Given the description of an element on the screen output the (x, y) to click on. 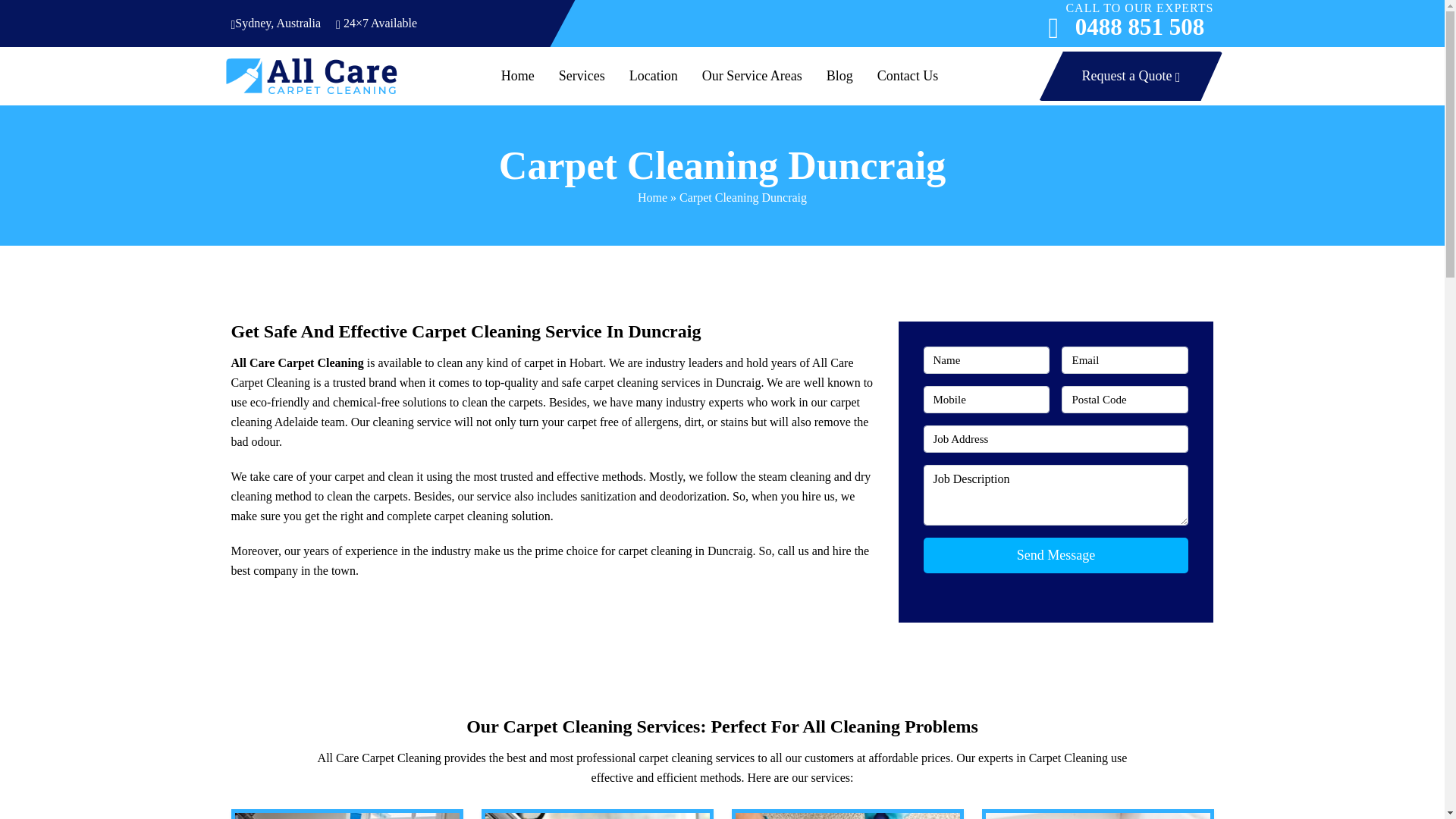
Send Message (1056, 555)
Contact Us (908, 76)
Services (581, 76)
Our Service Areas (751, 76)
Location (652, 76)
Blog (1138, 26)
Home (839, 76)
